Given the description of an element on the screen output the (x, y) to click on. 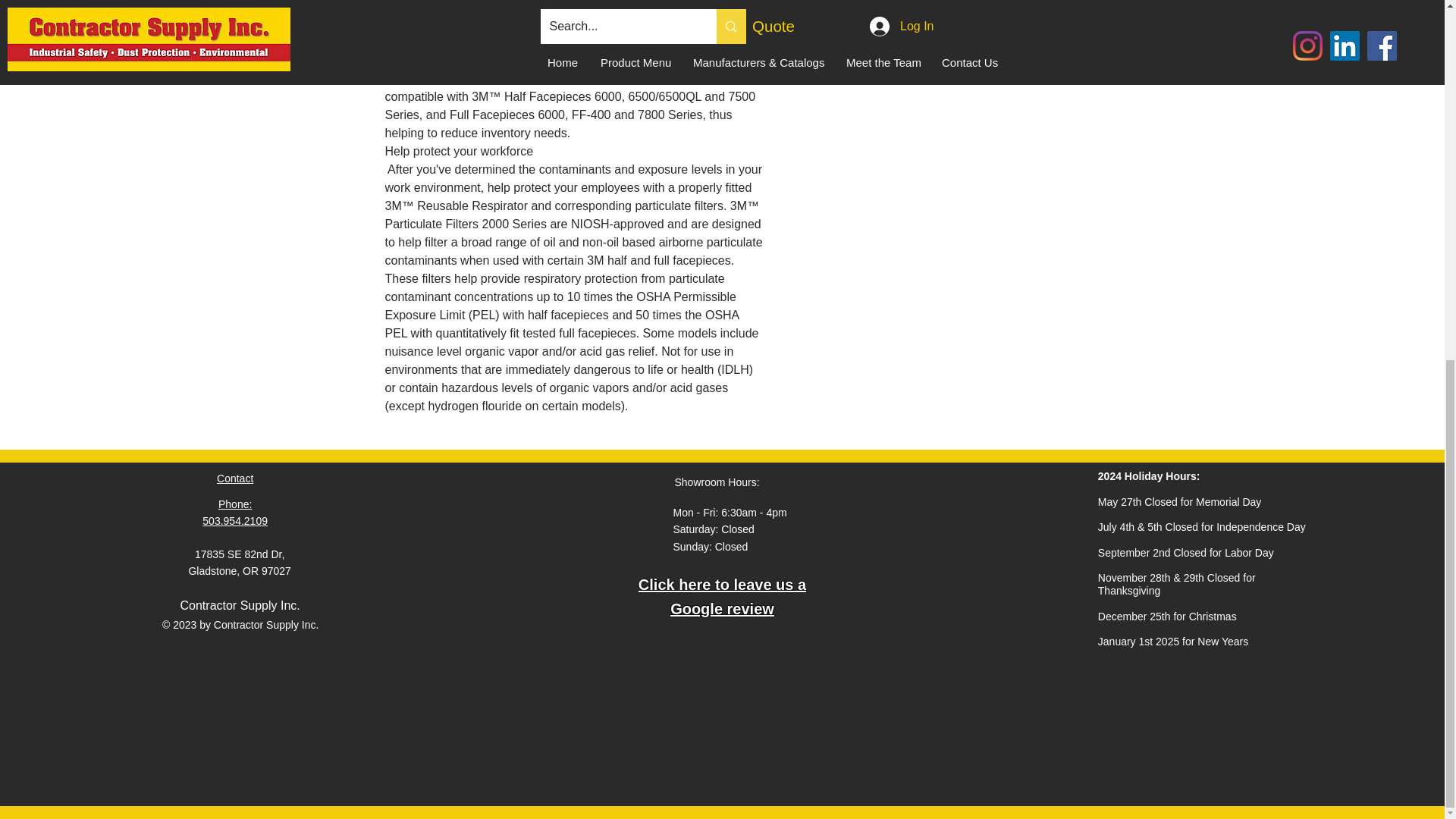
Contact (234, 478)
Google review (721, 608)
Contractor Supply Inc. (239, 604)
Phone: 503.954.2109 (234, 512)
Click here to leave us a (722, 584)
